Given the description of an element on the screen output the (x, y) to click on. 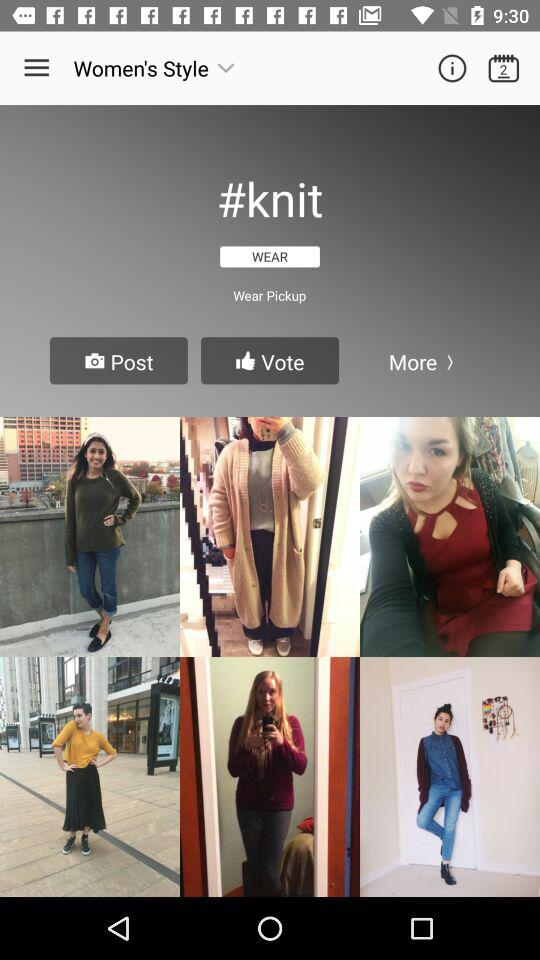
go to calendar (503, 68)
